Given the description of an element on the screen output the (x, y) to click on. 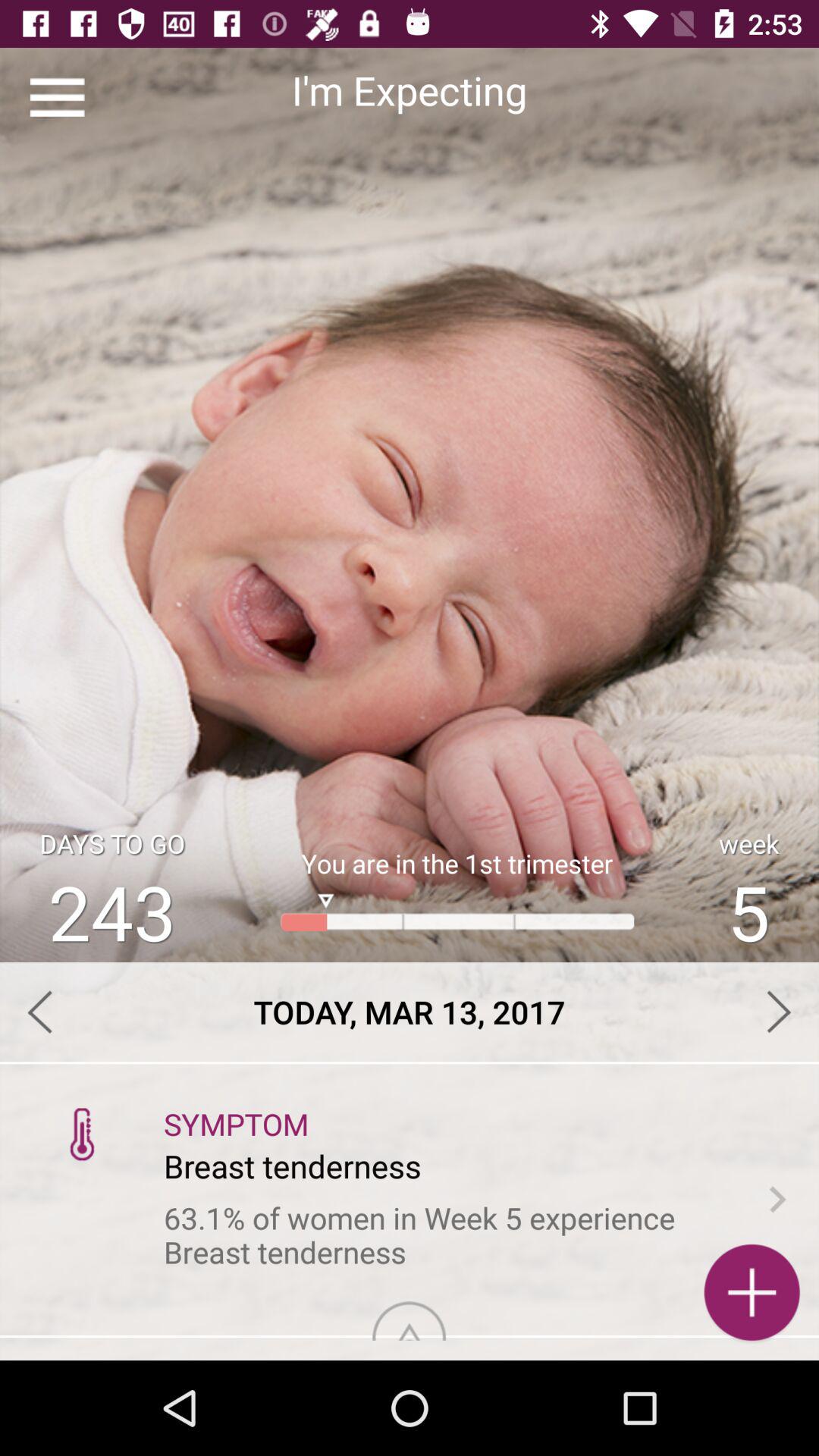
turn on icon above 63 1 of item (81, 1133)
